Given the description of an element on the screen output the (x, y) to click on. 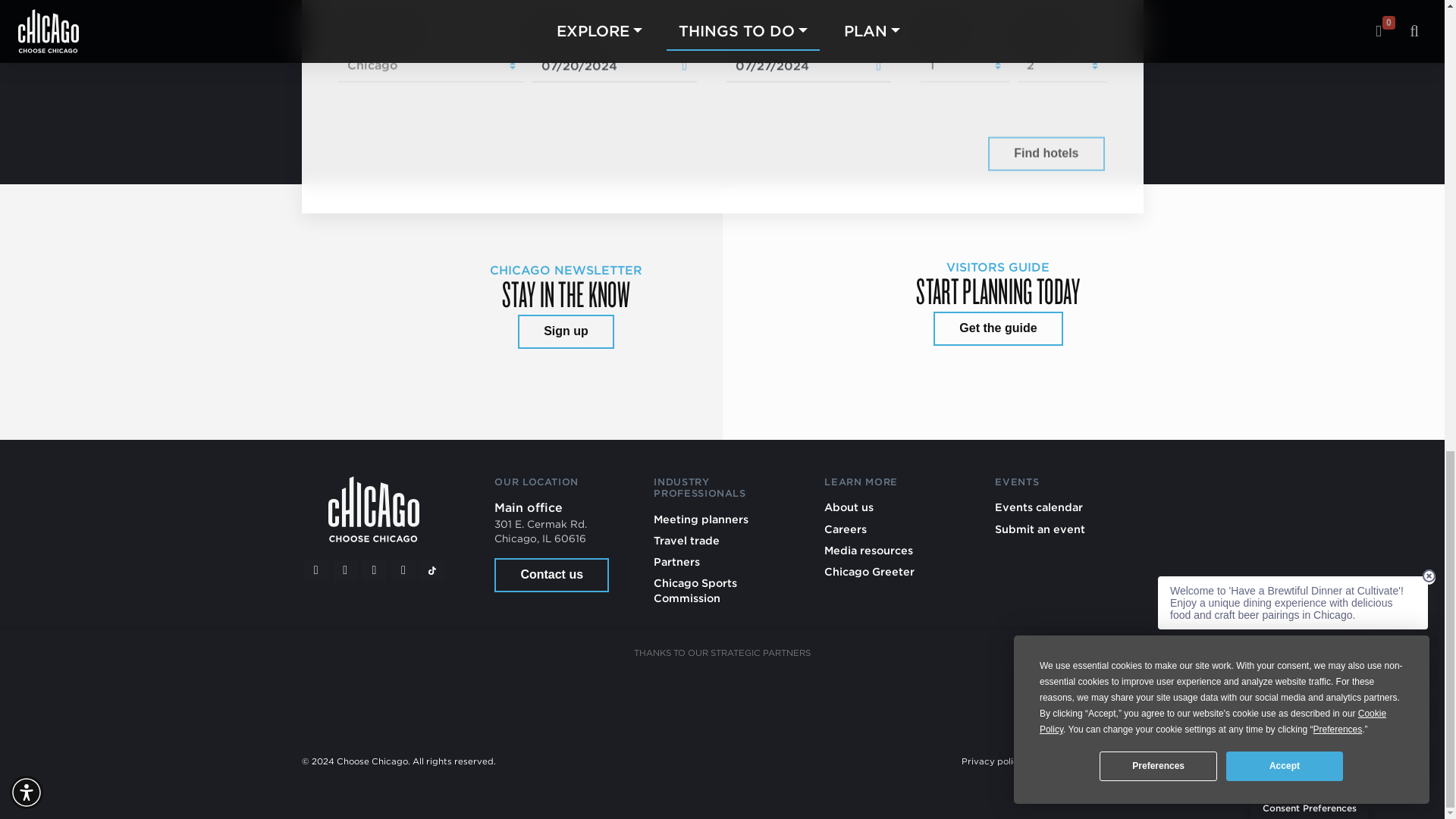
Powered by Expedia (917, 154)
Chicago Department of Aviation (894, 696)
Brand USA (549, 696)
Enjoy Illinois (779, 696)
American Airlines (433, 696)
